Given the description of an element on the screen output the (x, y) to click on. 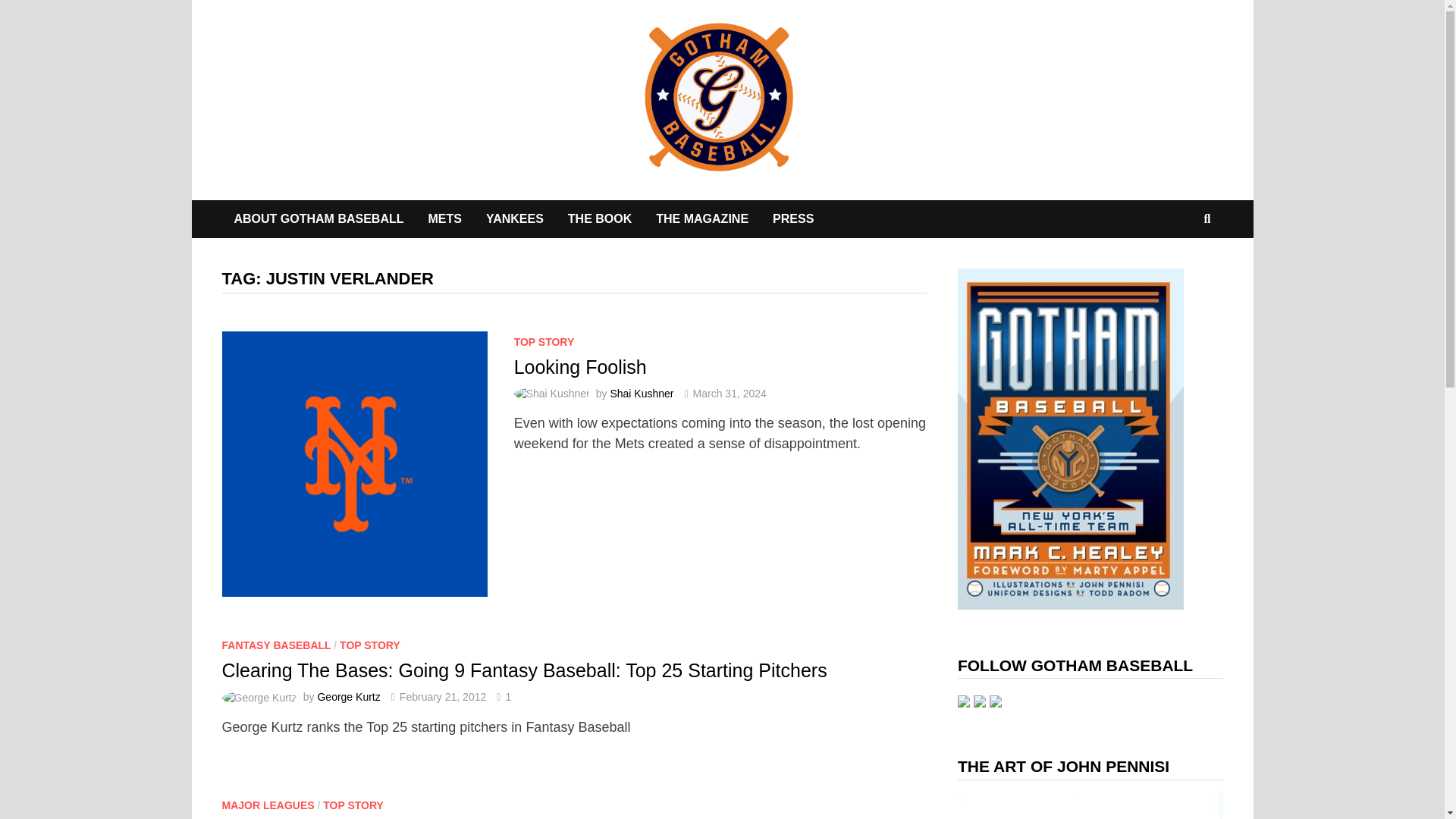
TOP STORY (369, 645)
FANTASY BASEBALL (275, 645)
THE BOOK (599, 218)
Shai Kushner (641, 393)
ABOUT GOTHAM BASEBALL (317, 218)
The Art of John Pennisi (1090, 805)
Looking Foolish (579, 366)
TOP STORY (353, 805)
TOP STORY (544, 341)
THE MAGAZINE (701, 218)
March 31, 2024 (730, 393)
February 21, 2012 (442, 696)
MAJOR LEAGUES (267, 805)
PRESS (792, 218)
YANKEES (515, 218)
